Given the description of an element on the screen output the (x, y) to click on. 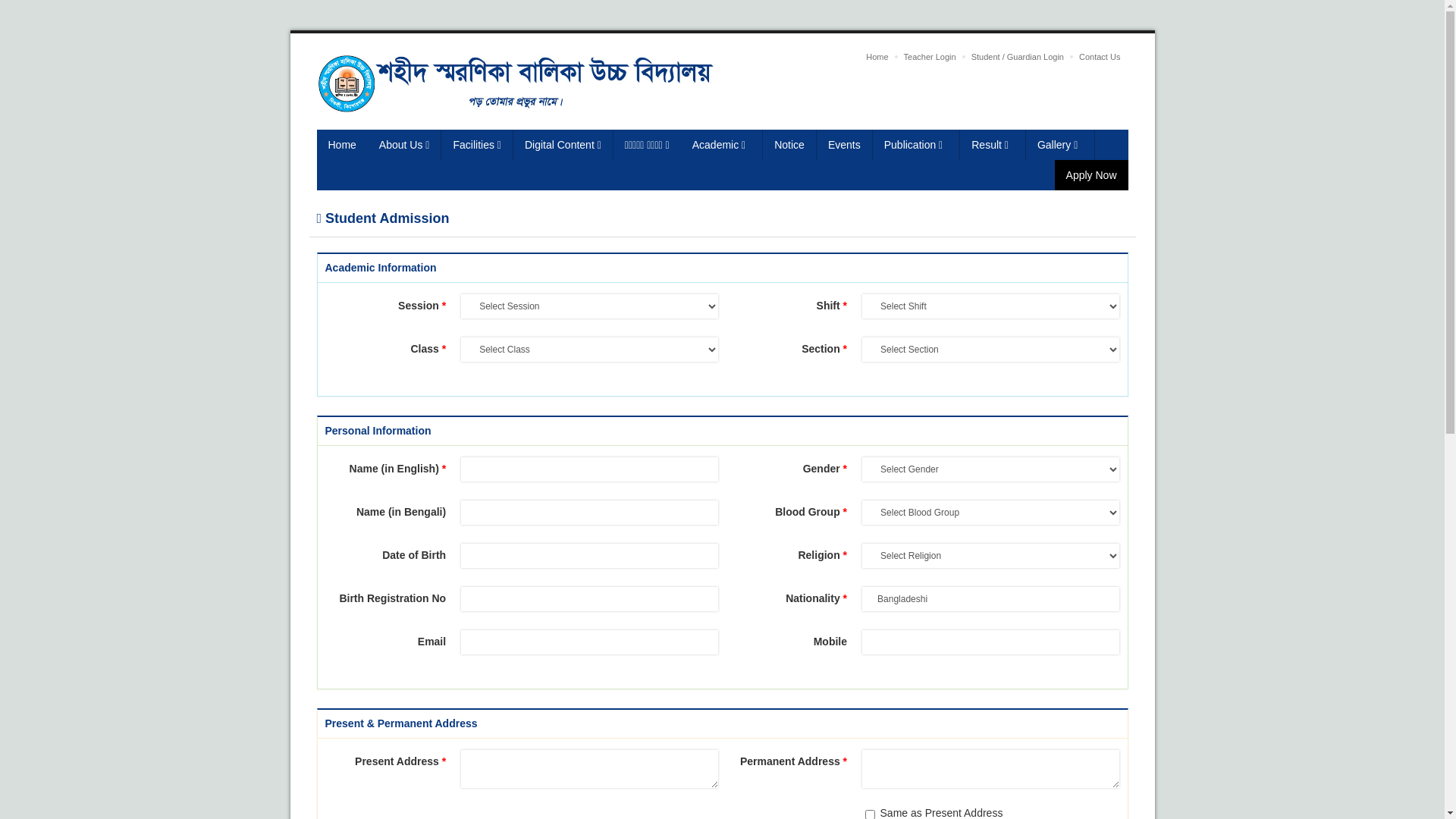
Facilities Element type: text (476, 144)
Publication Element type: text (916, 144)
Contact Us Element type: text (1099, 56)
Gallery Element type: text (1060, 144)
Home Element type: text (876, 56)
Result Element type: text (993, 144)
Apply Now Element type: text (1091, 175)
Events Element type: text (844, 144)
Student / Guardian Login Element type: text (1017, 56)
Notice Element type: text (789, 144)
Digital Content Element type: text (563, 144)
Home Element type: text (341, 144)
Academic Element type: text (721, 144)
Teacher Login Element type: text (929, 56)
About Us Element type: text (404, 144)
